Given the description of an element on the screen output the (x, y) to click on. 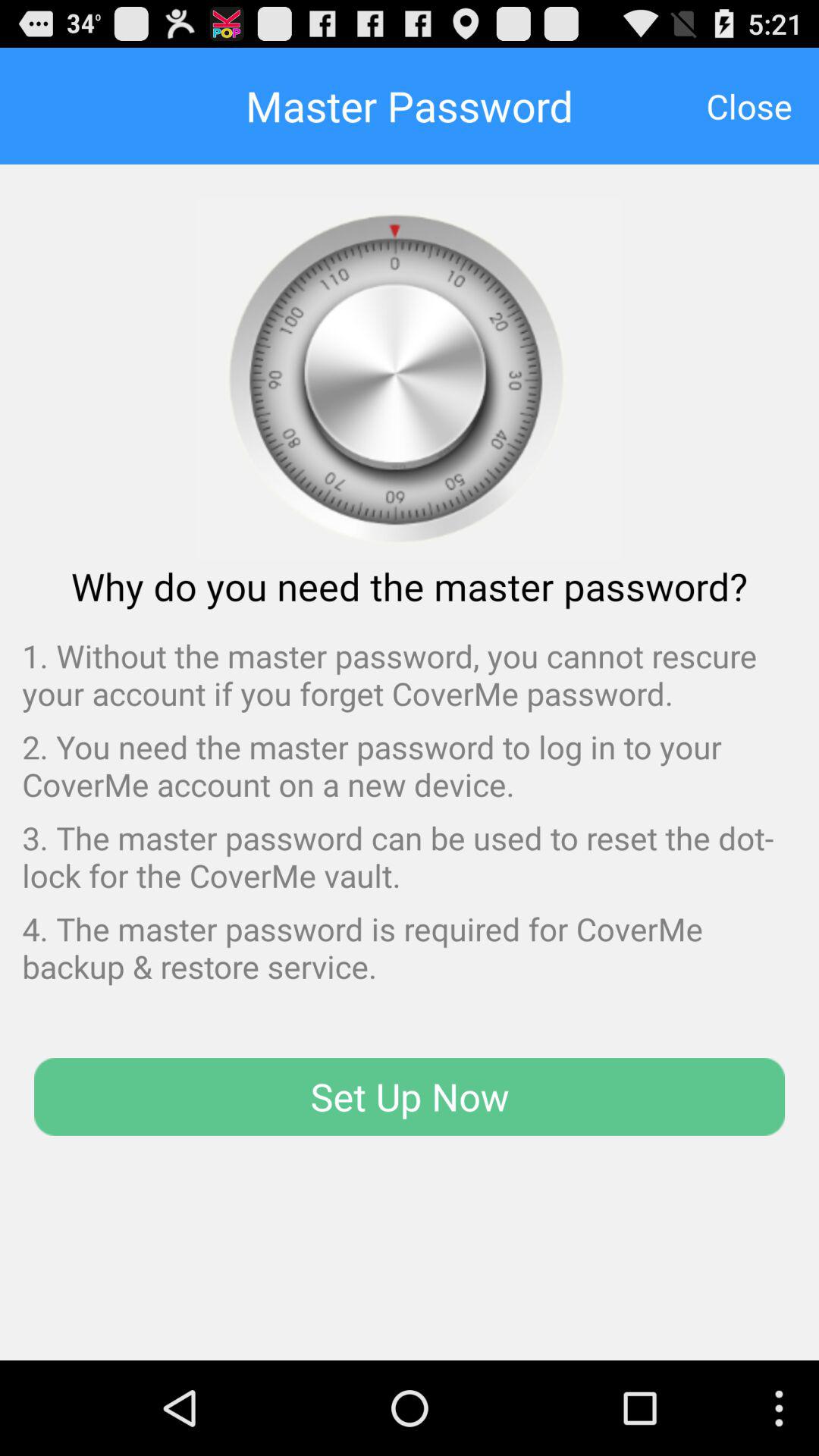
launch close item (749, 106)
